Given the description of an element on the screen output the (x, y) to click on. 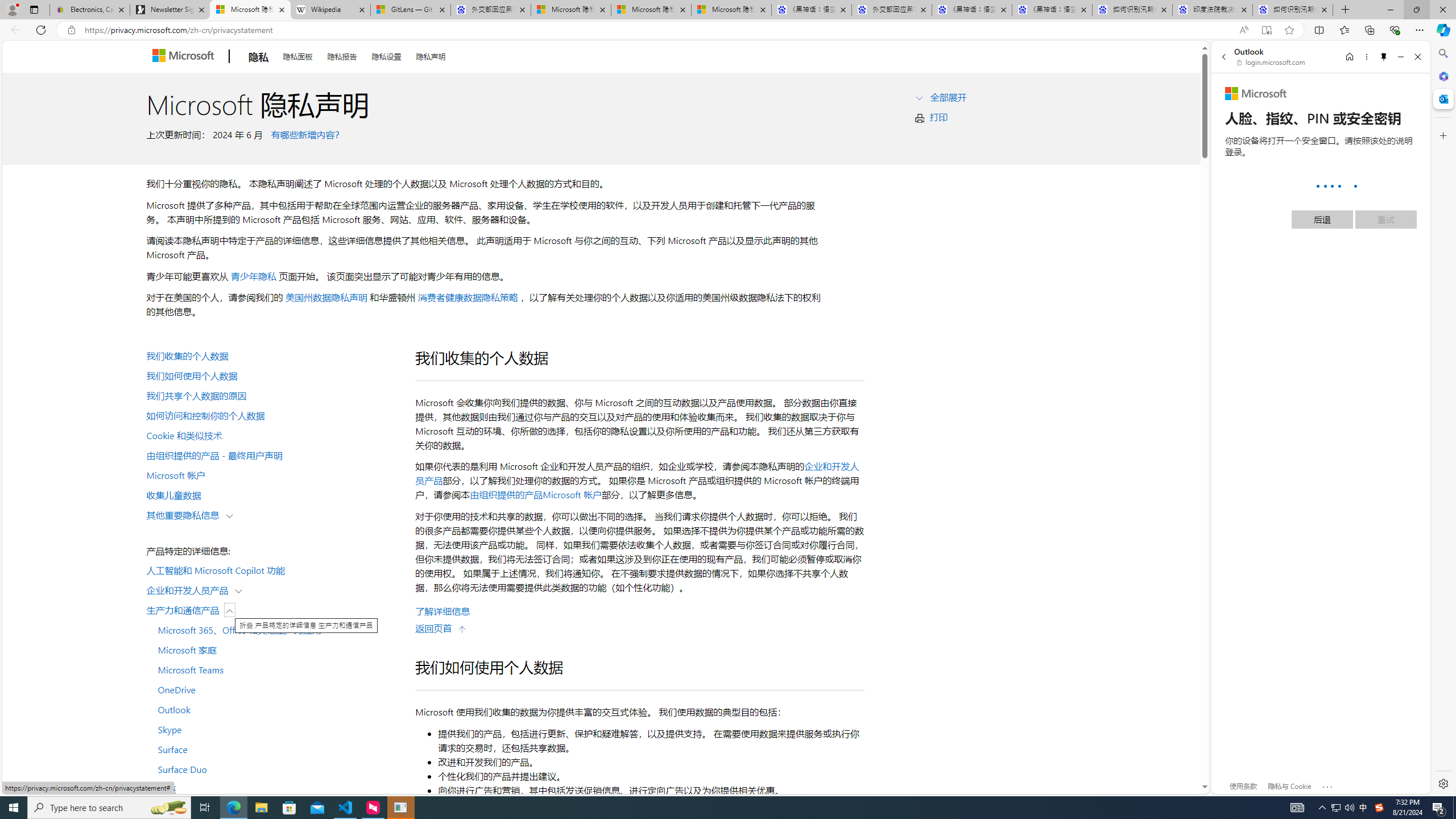
Wikipedia (330, 9)
Microsoft (1255, 93)
